Given the description of an element on the screen output the (x, y) to click on. 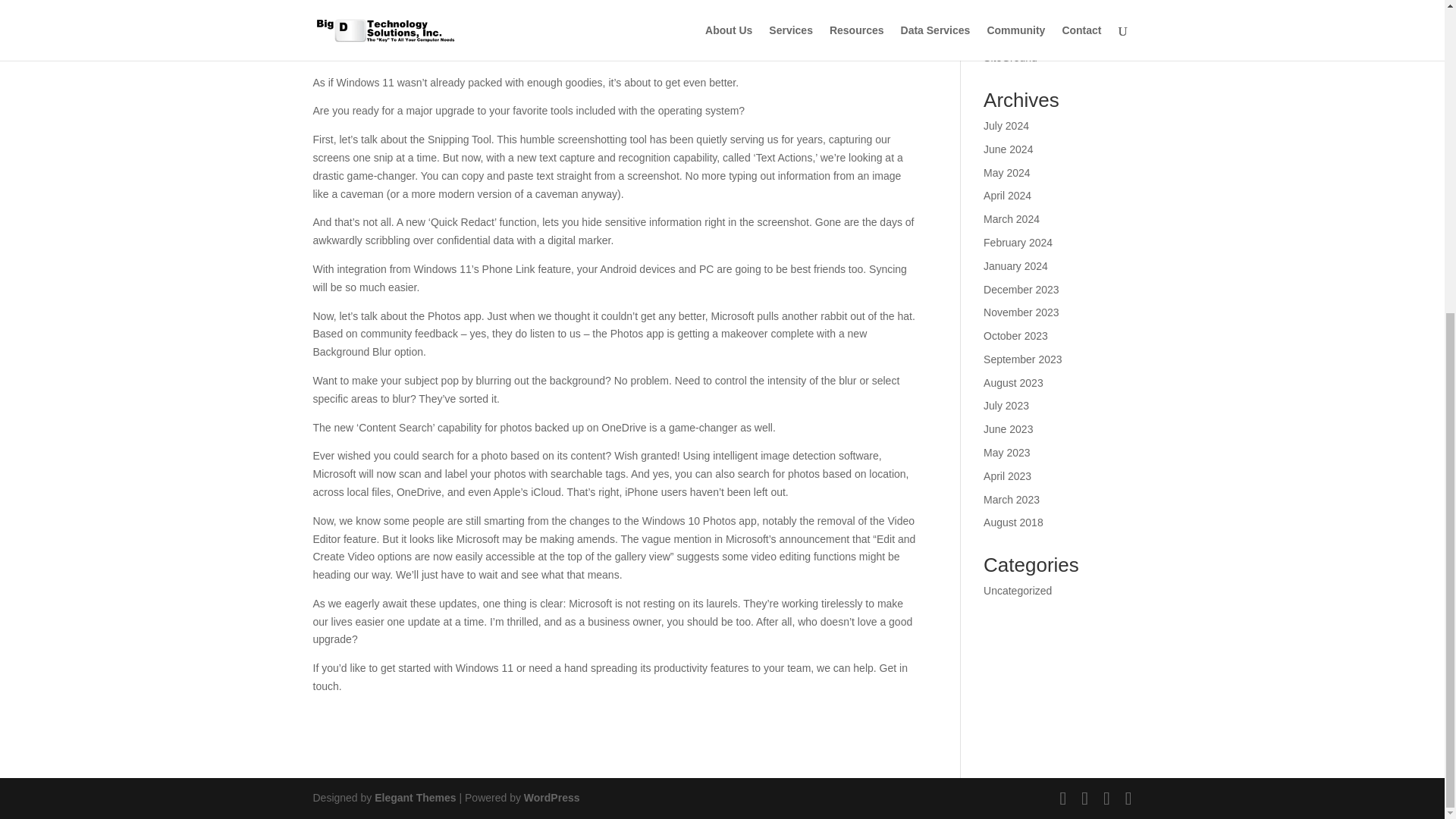
December 2023 (1021, 289)
September 2023 (1023, 358)
May 2024 (1006, 173)
January 2024 (1016, 265)
March 2023 (1011, 499)
August 2023 (1013, 382)
May 2023 (1006, 452)
February 2024 (1018, 242)
June 2023 (1008, 428)
June 2024 (1008, 149)
October 2023 (1016, 336)
WordPress Resources at SiteGround (1042, 47)
July 2024 (1006, 125)
A WordPress Commenter (1043, 19)
March 2024 (1011, 218)
